Given the description of an element on the screen output the (x, y) to click on. 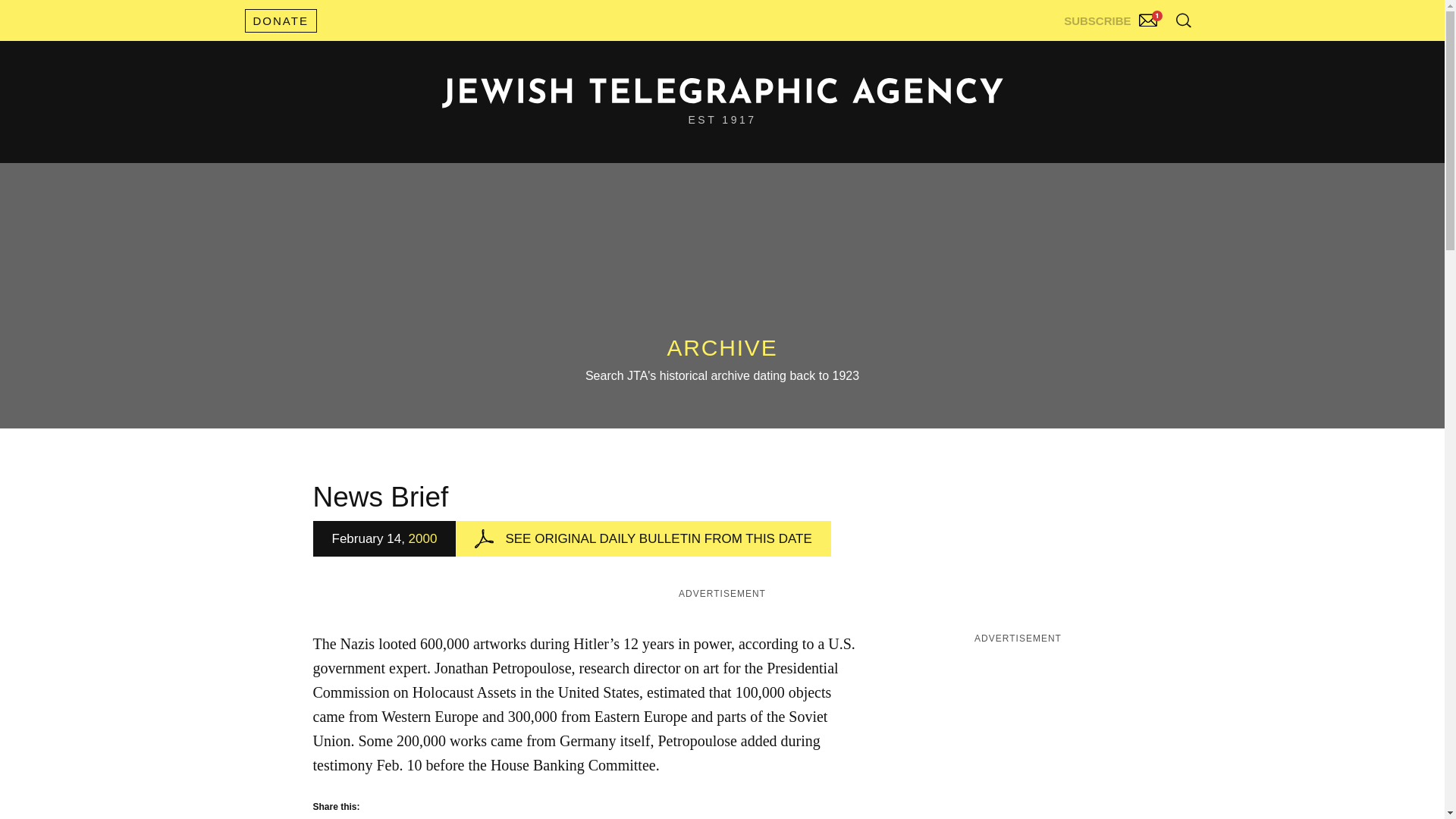
DONATE (279, 20)
Search (1144, 53)
SUBSCRIBE (1112, 17)
SEARCH TOGGLESEARCH TOGGLE (1182, 20)
